Given the description of an element on the screen output the (x, y) to click on. 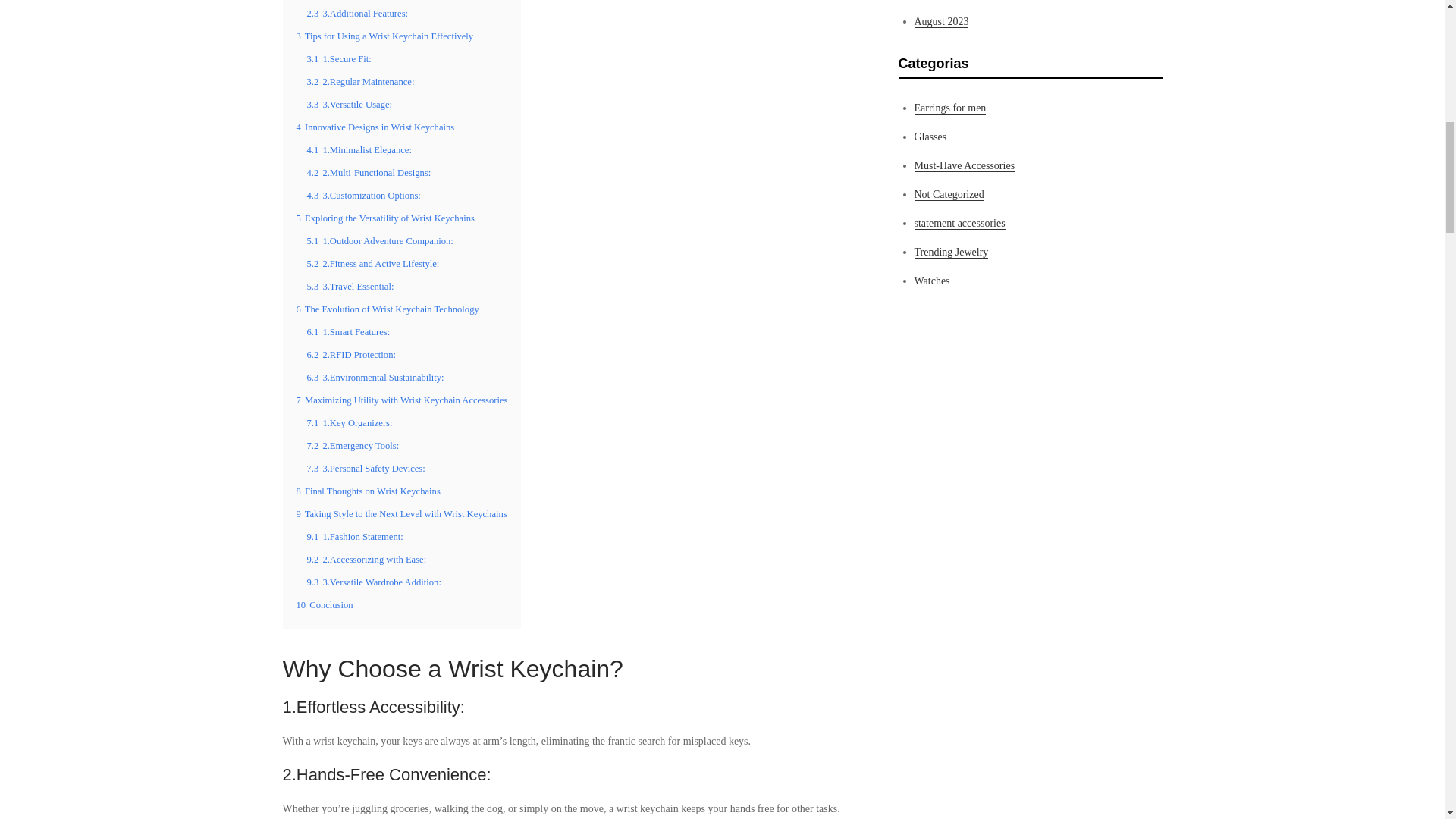
6.1 1.Smart Features: (347, 331)
9 Taking Style to the Next Level with Wrist Keychains (400, 513)
6 The Evolution of Wrist Keychain Technology (387, 308)
4.3 3.Customization Options: (362, 195)
6.2 2.RFID Protection: (349, 354)
3.3 3.Versatile Usage: (348, 104)
5.3 3.Travel Essential: (349, 286)
6.3 3.Environmental Sustainability: (374, 377)
7.2 2.Emergency Tools: (351, 445)
9.1 1.Fashion Statement: (354, 536)
